Given the description of an element on the screen output the (x, y) to click on. 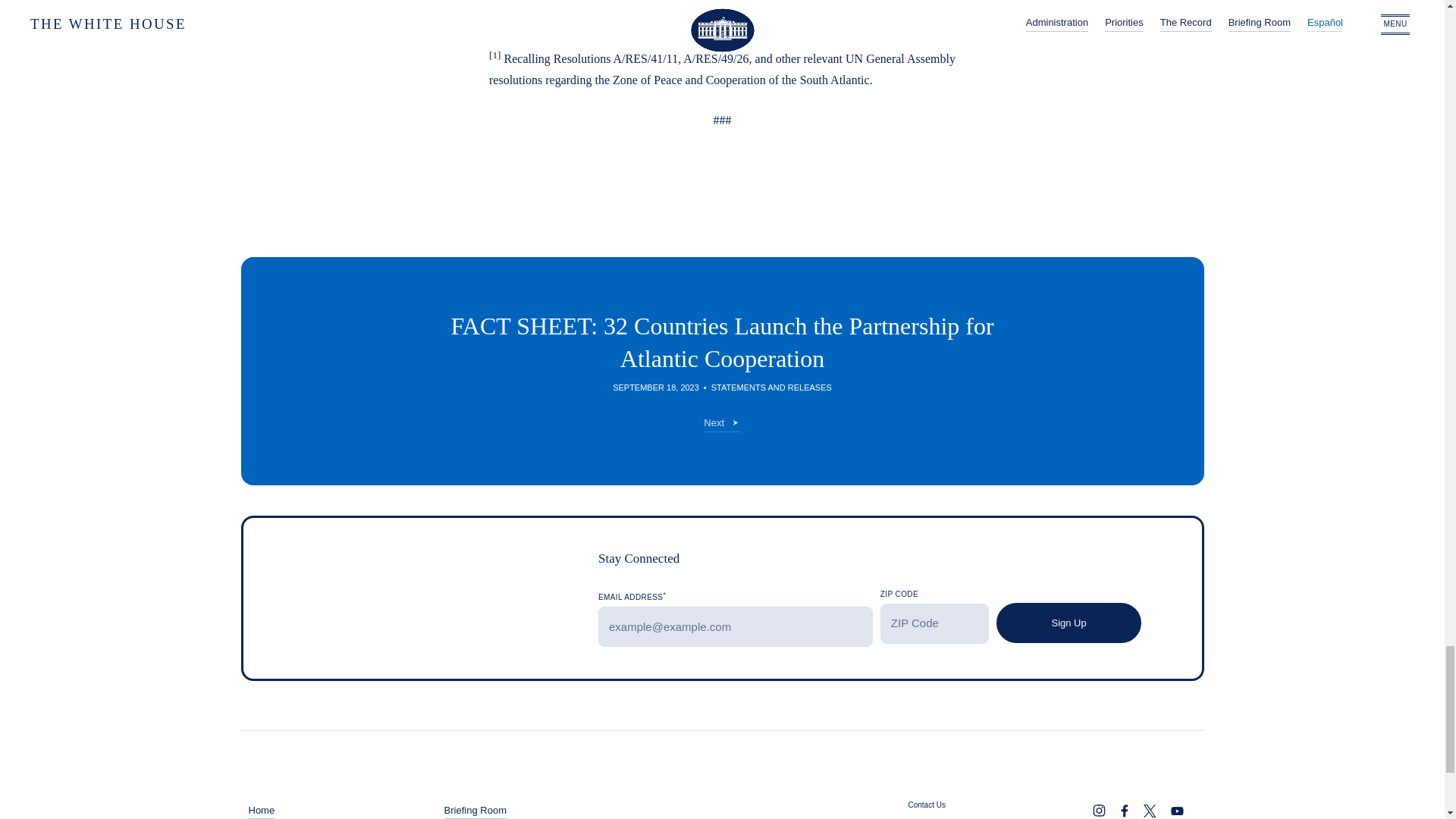
Sign Up (1068, 622)
